Given the description of an element on the screen output the (x, y) to click on. 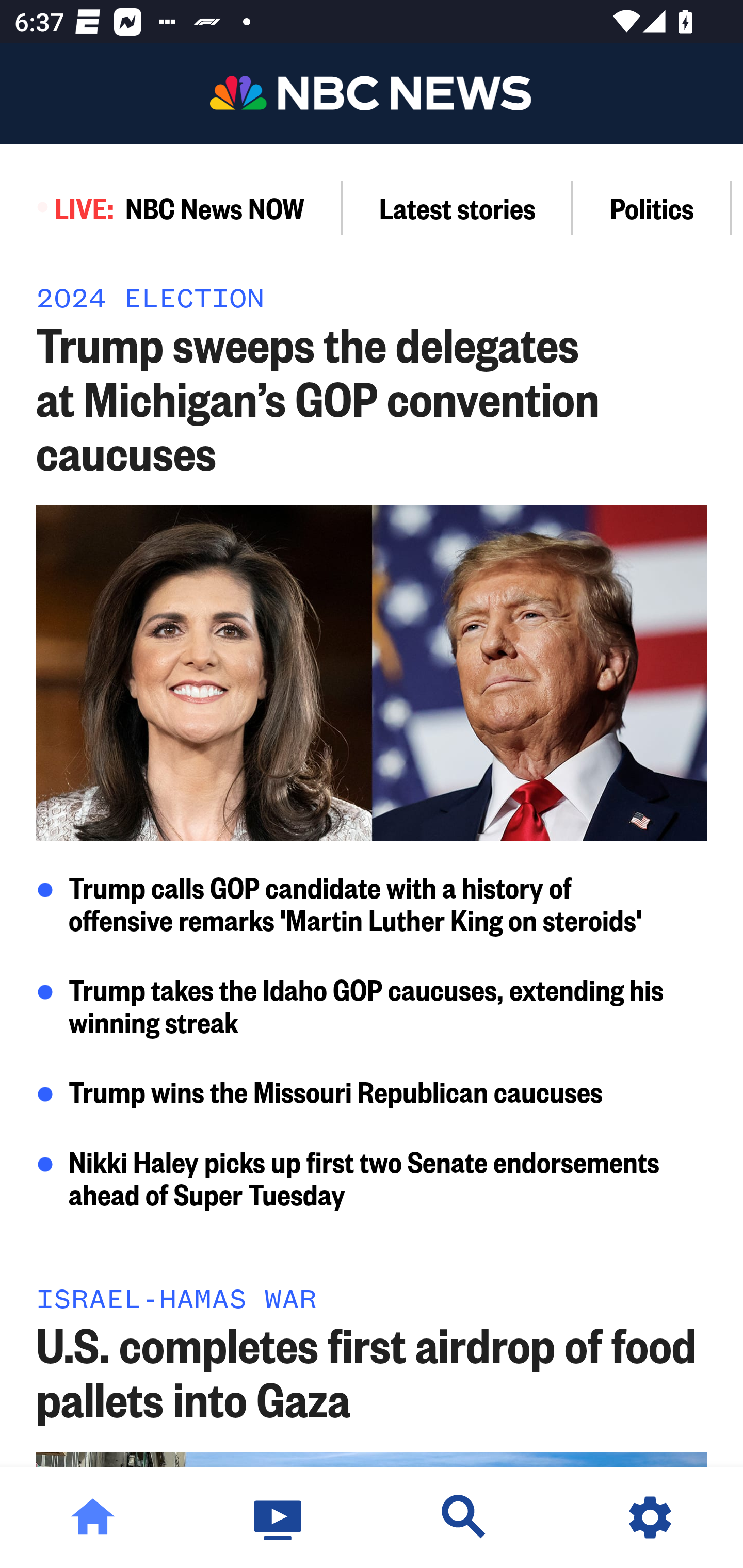
LIVE:  NBC News NOW (171, 207)
Latest stories Section,Latest stories (457, 207)
Politics Section,Politics (652, 207)
Watch (278, 1517)
Discover (464, 1517)
Settings (650, 1517)
